Given the description of an element on the screen output the (x, y) to click on. 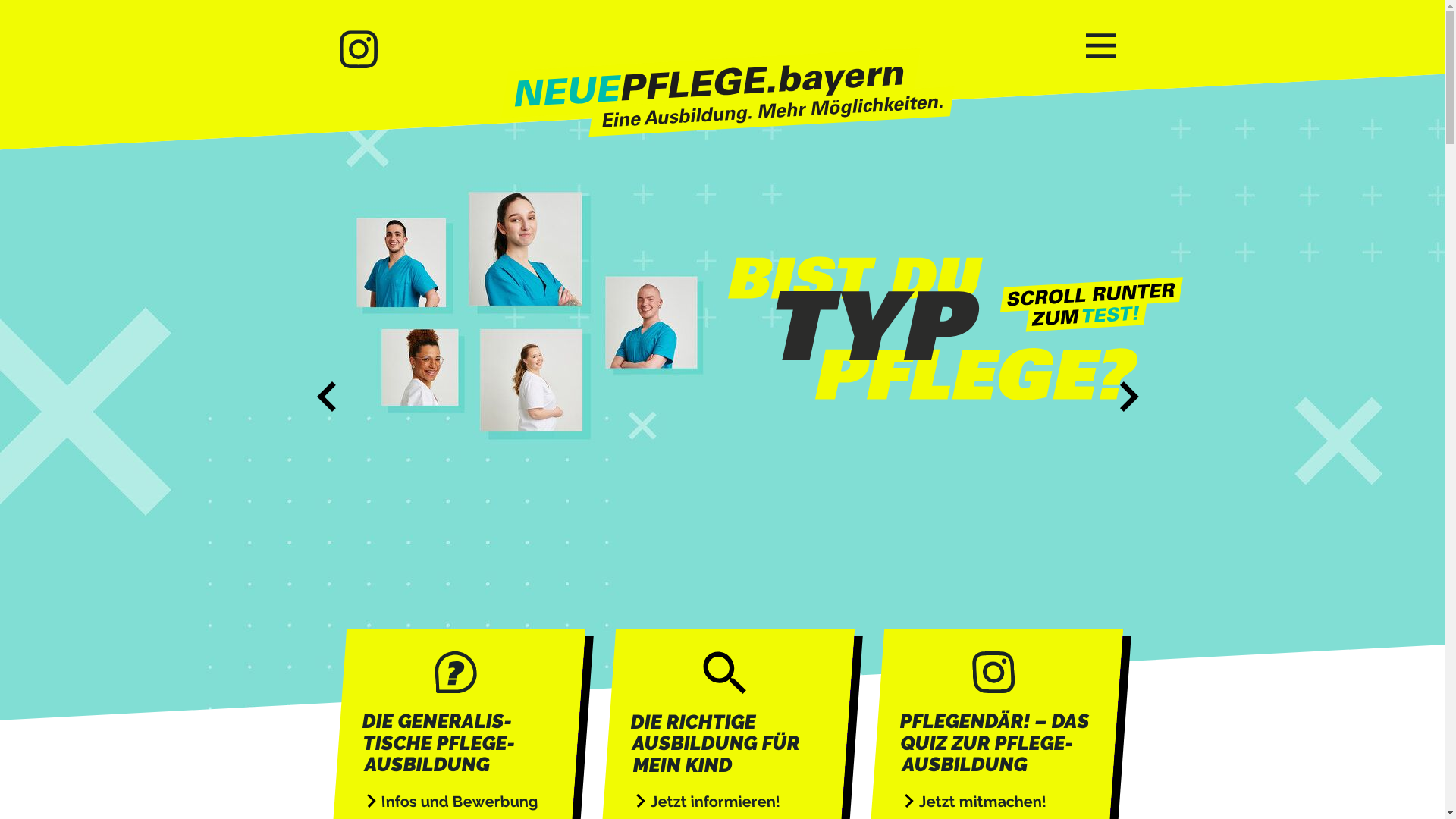
Neue Pflege Bayern Element type: hover (727, 93)
Instagram Neue Pflege Bayern Element type: hover (358, 50)
